Given the description of an element on the screen output the (x, y) to click on. 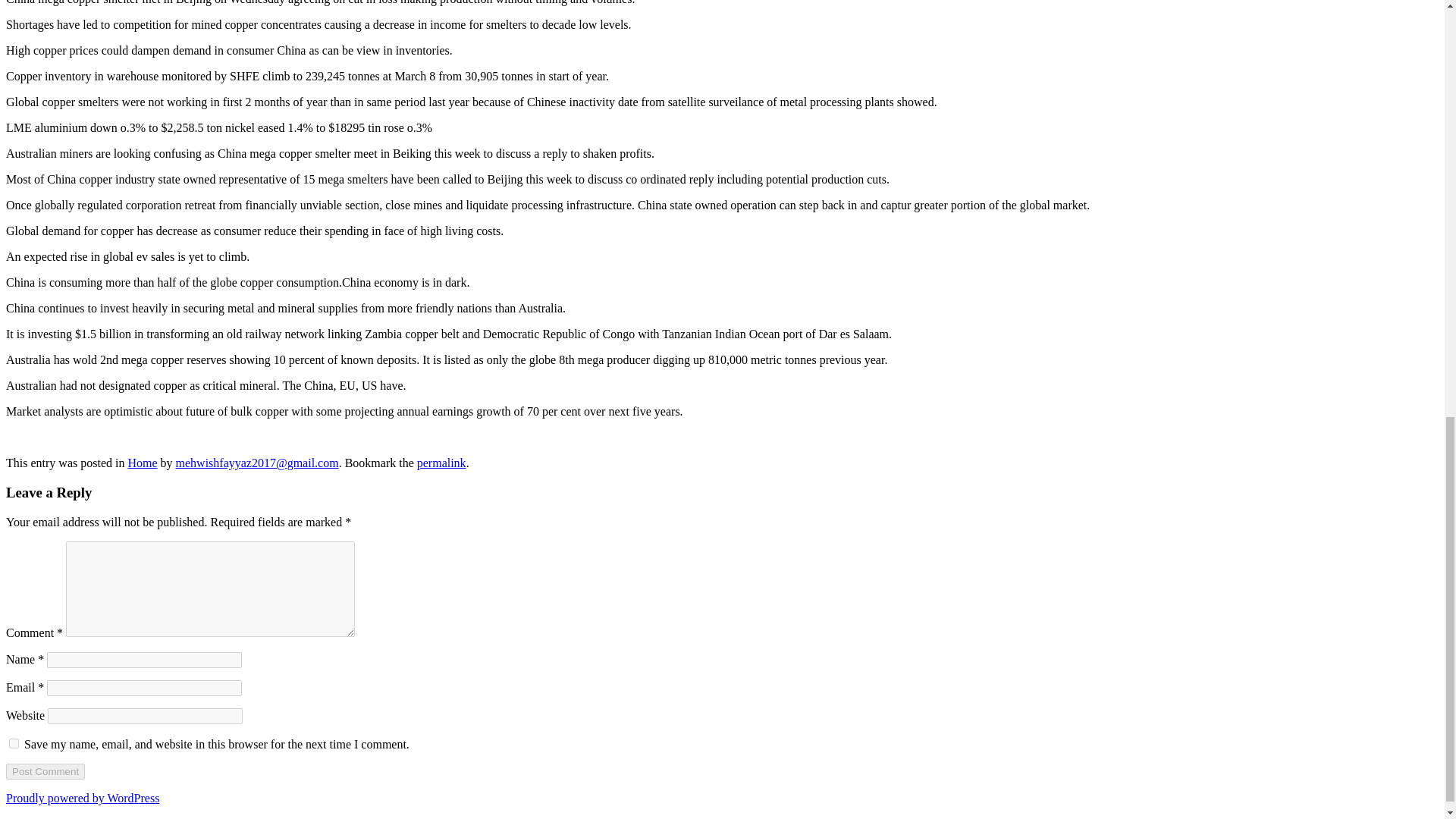
yes (13, 743)
Post Comment (44, 771)
